Given the description of an element on the screen output the (x, y) to click on. 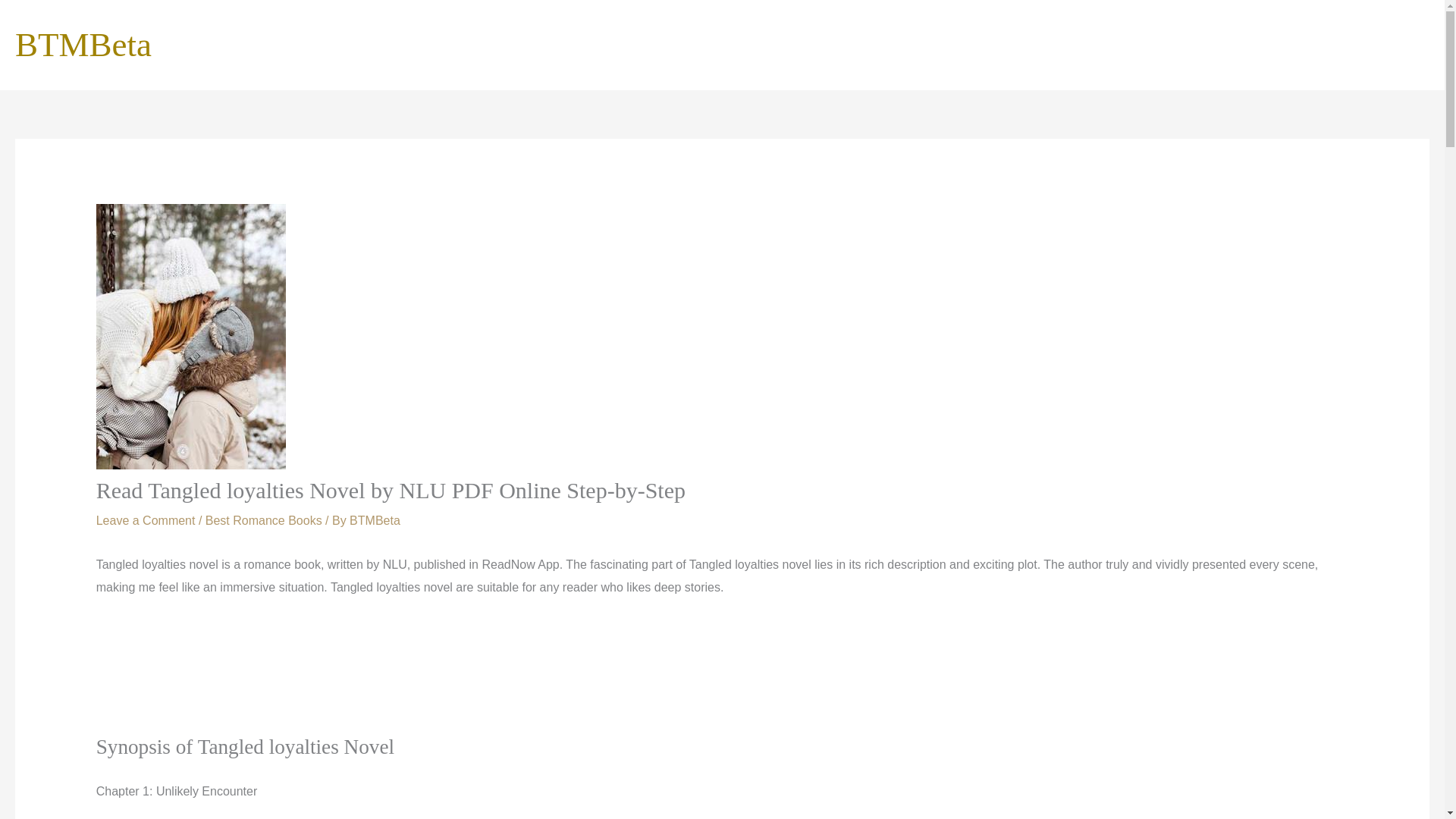
BTMBeta (82, 44)
Advertisement (721, 675)
Leave a Comment (145, 520)
BTMBeta (374, 520)
Best Romance Books (263, 520)
View all posts by BTMBeta (374, 520)
